Given the description of an element on the screen output the (x, y) to click on. 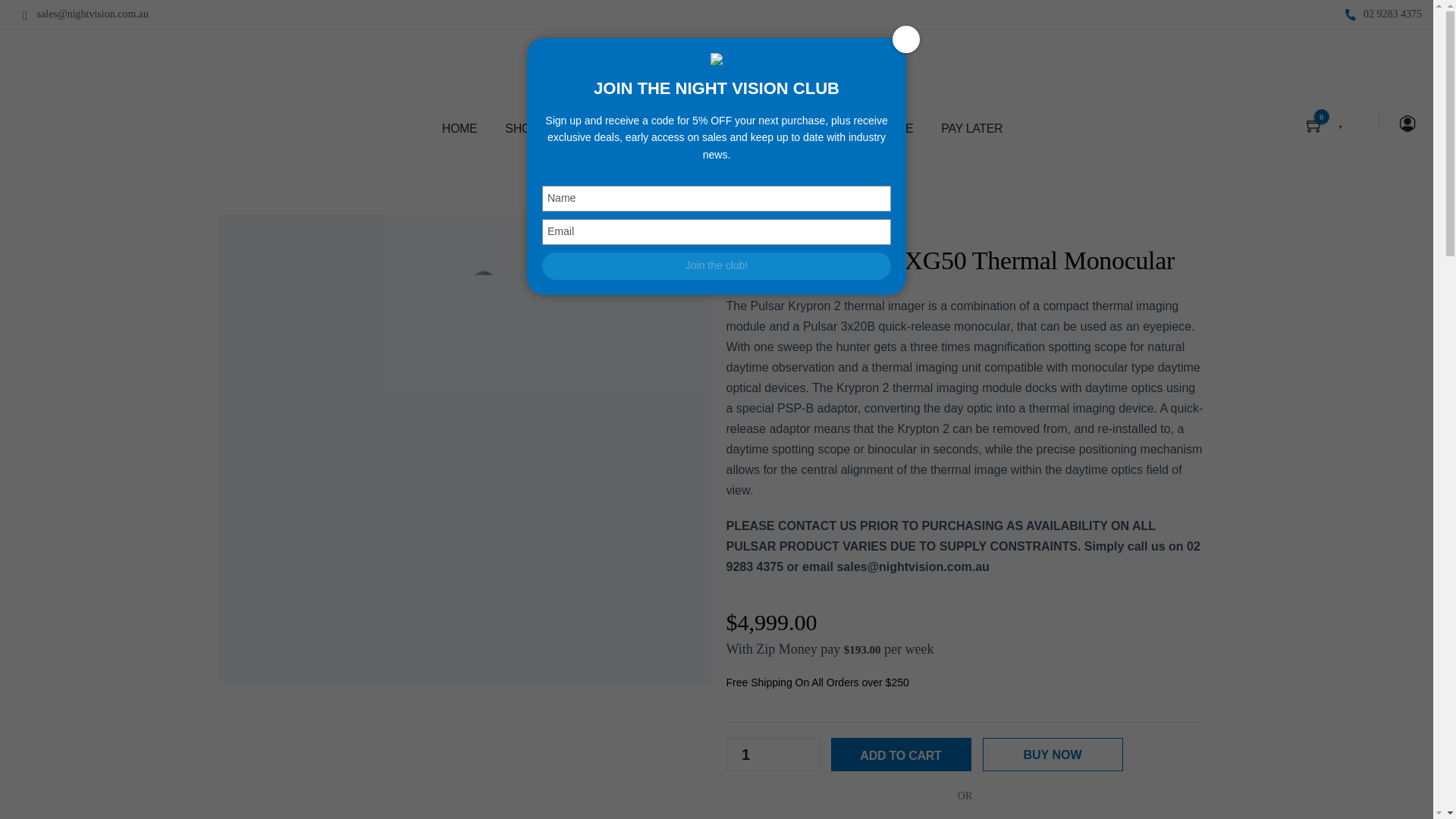
02 9283 4375 (1388, 13)
NEW ARRIVALS (617, 128)
HOME (460, 128)
LATEST NEWS (729, 128)
SALE (898, 128)
1 (745, 754)
CONTACT (827, 128)
PAY LATER (971, 128)
Pulsar Krypton 2 XG50 Thermal Monocular (464, 357)
